Given the description of an element on the screen output the (x, y) to click on. 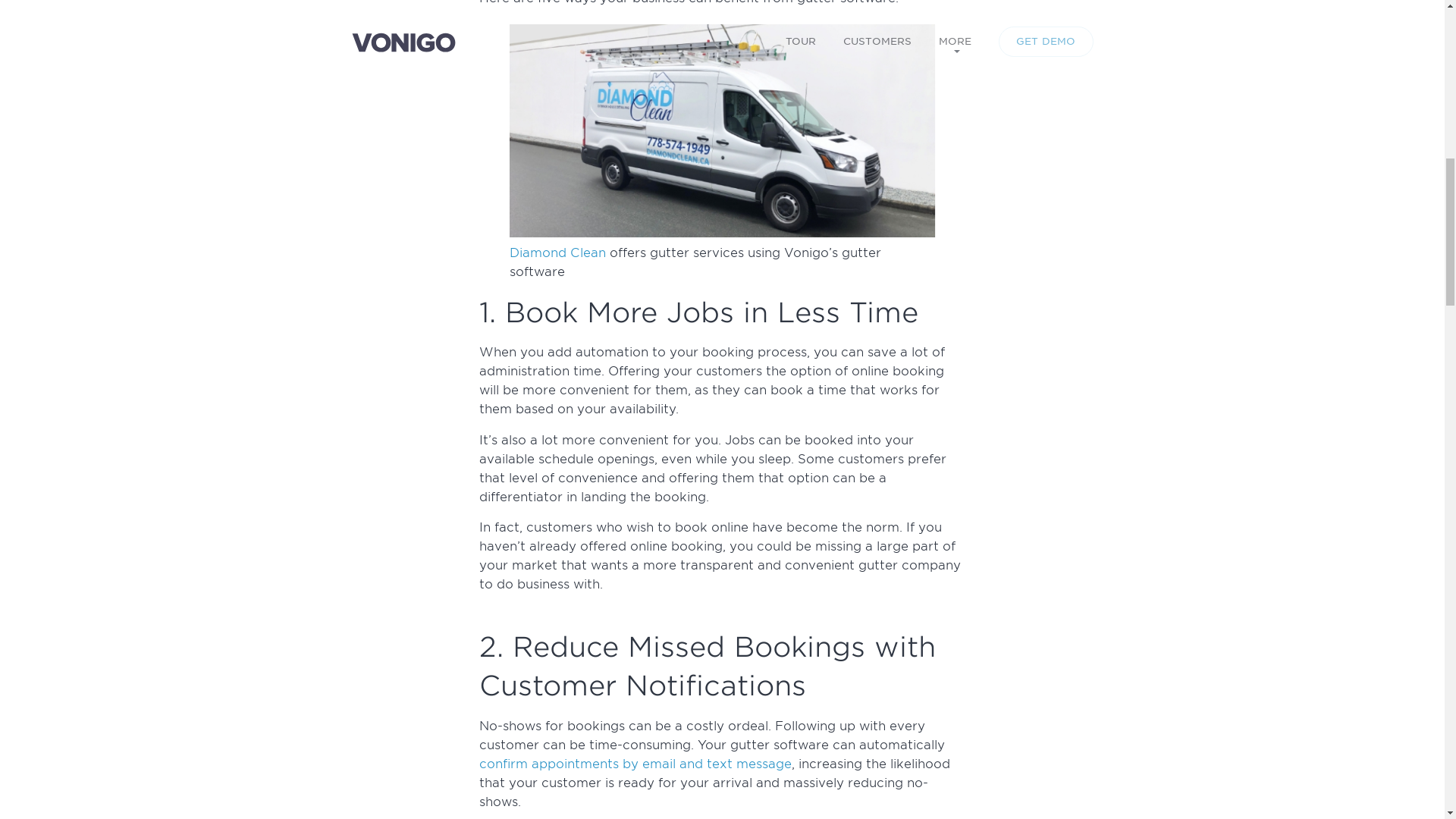
confirm appointments by email and text message (635, 763)
Diamond Clean (557, 252)
